Given the description of an element on the screen output the (x, y) to click on. 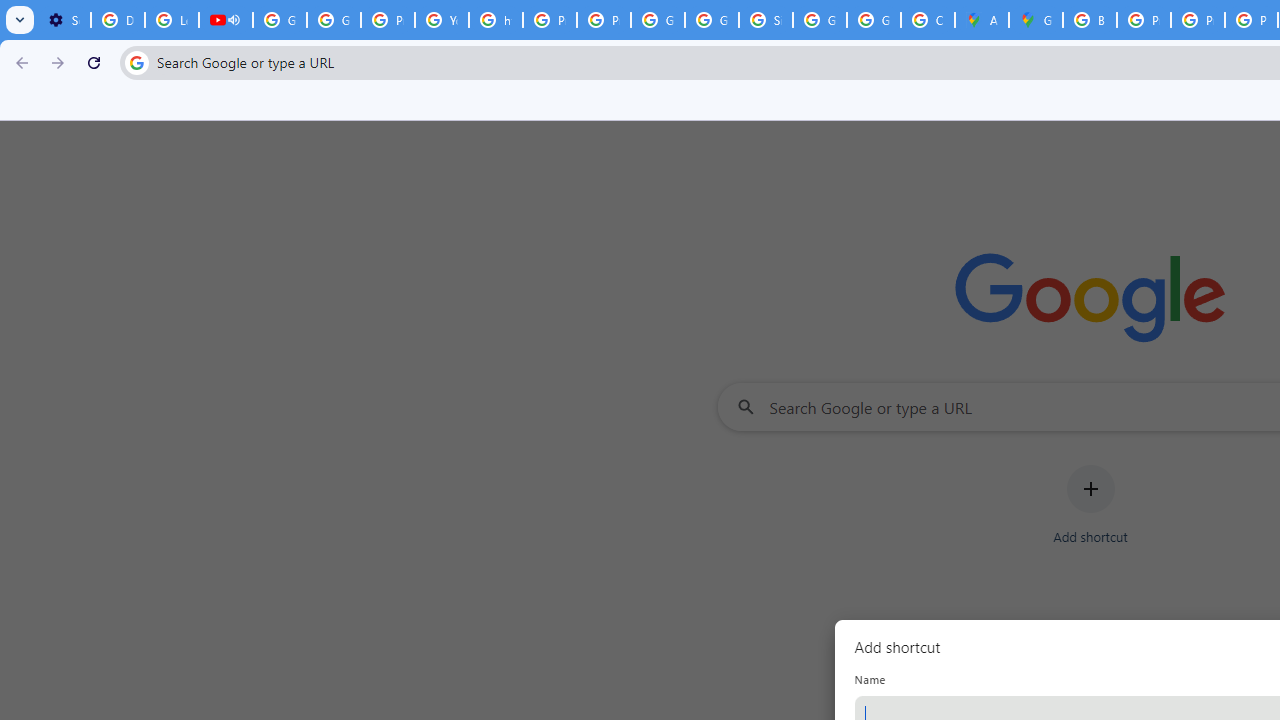
Google Maps (1035, 20)
Privacy Help Center - Policies Help (550, 20)
Google Account Help (280, 20)
Settings - Customize profile (63, 20)
